Given the description of an element on the screen output the (x, y) to click on. 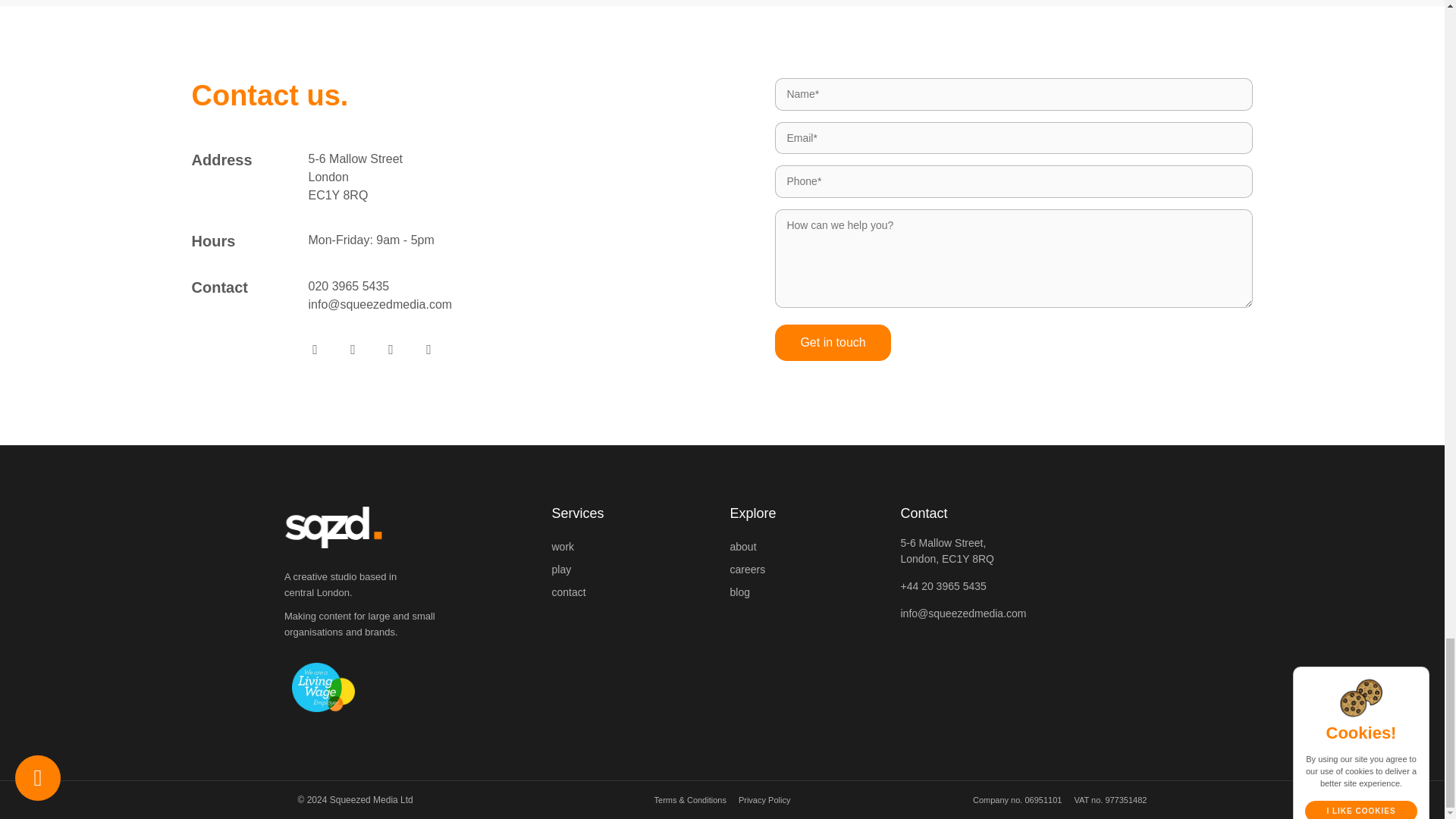
Get in touch (831, 342)
020 3965 5435 (347, 286)
play (632, 568)
Get in touch (831, 342)
work (632, 546)
contact (632, 591)
